Given the description of an element on the screen output the (x, y) to click on. 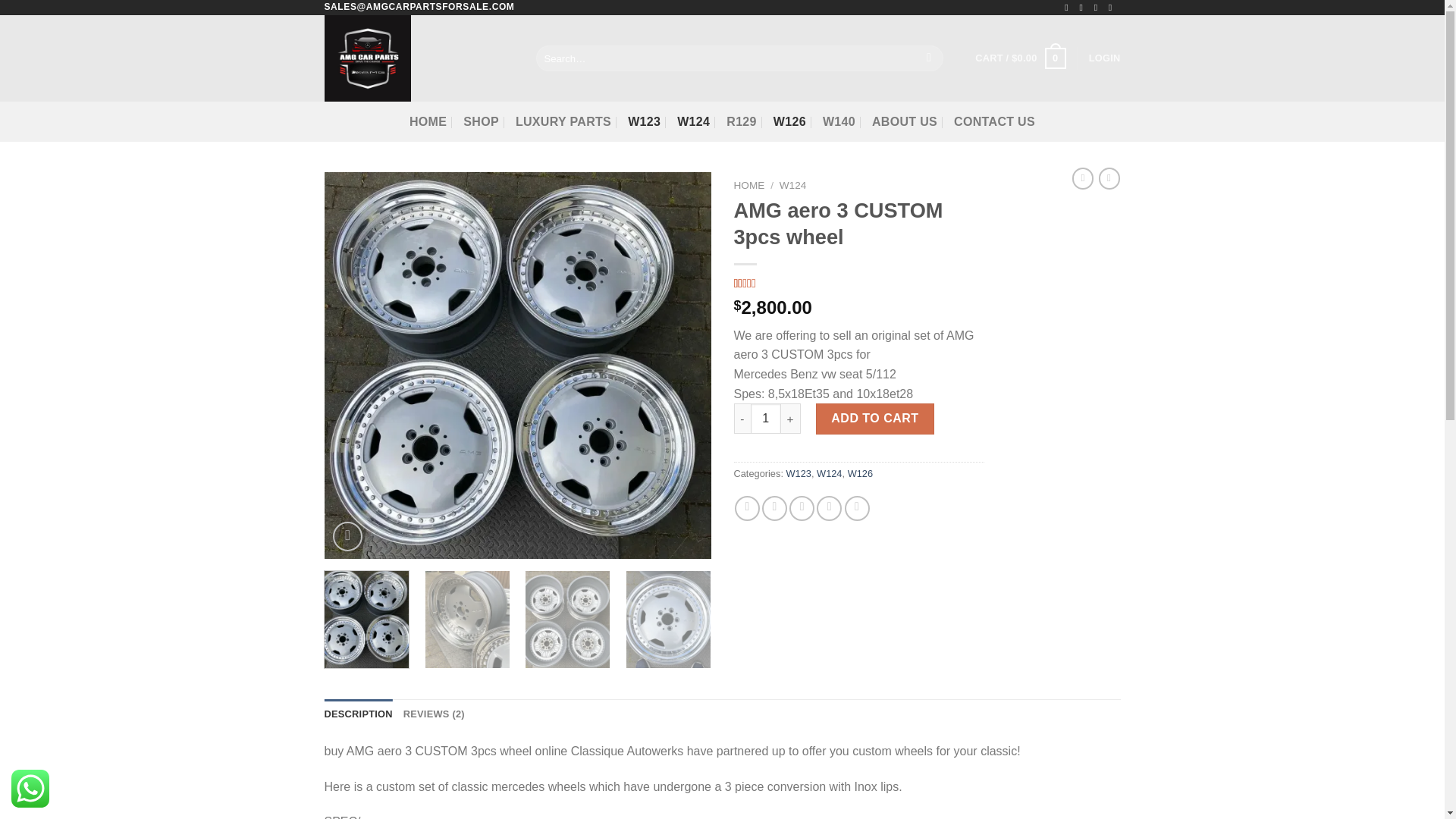
Search (929, 58)
Cart (1020, 57)
CONTACT US (994, 121)
ABOUT US (904, 121)
LOGIN (1105, 58)
HOME (427, 121)
1 (765, 418)
Qty (765, 418)
LUXURY PARTS (563, 121)
